Given the description of an element on the screen output the (x, y) to click on. 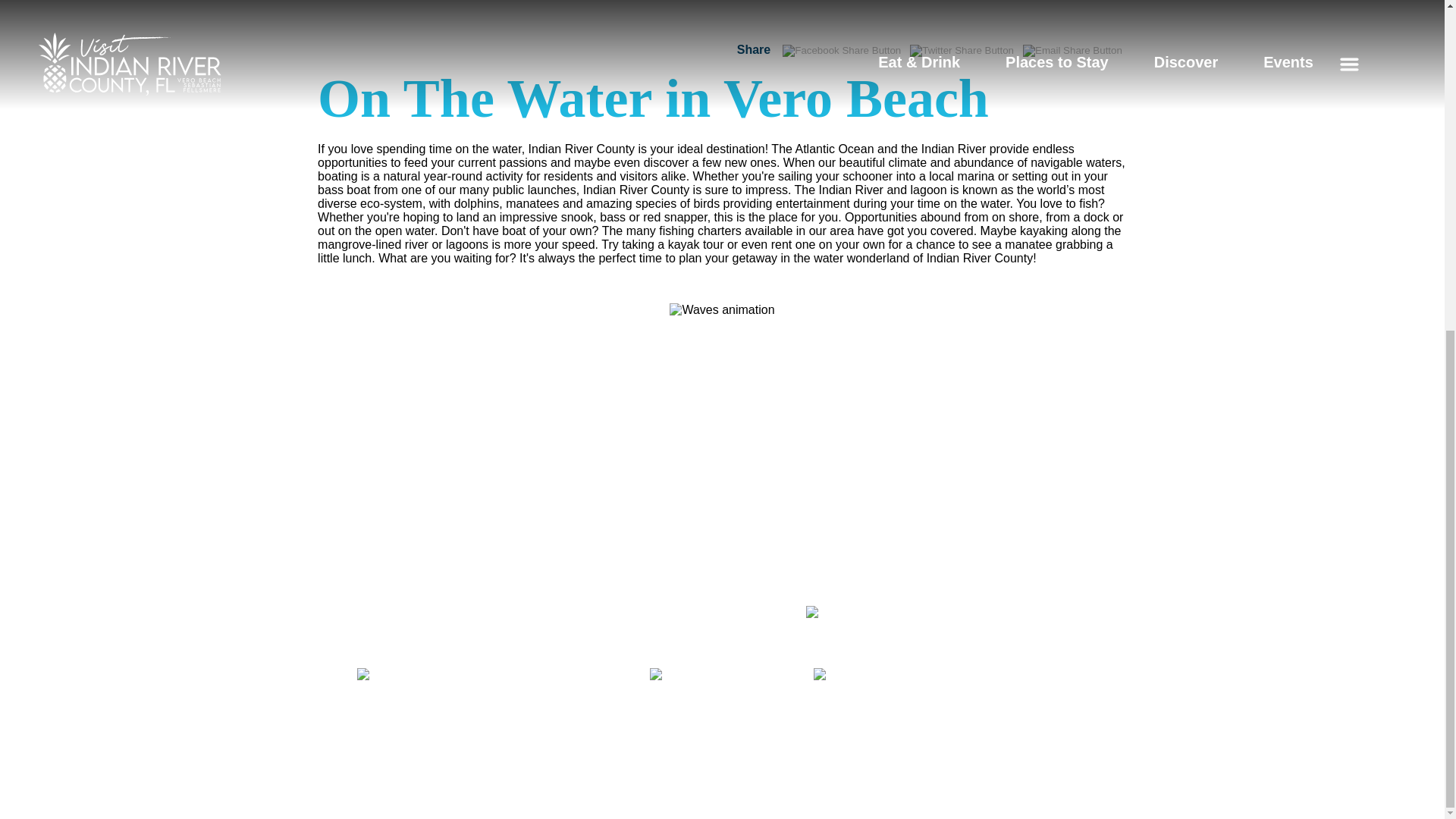
Share this on Twitter (961, 50)
